Given the description of an element on the screen output the (x, y) to click on. 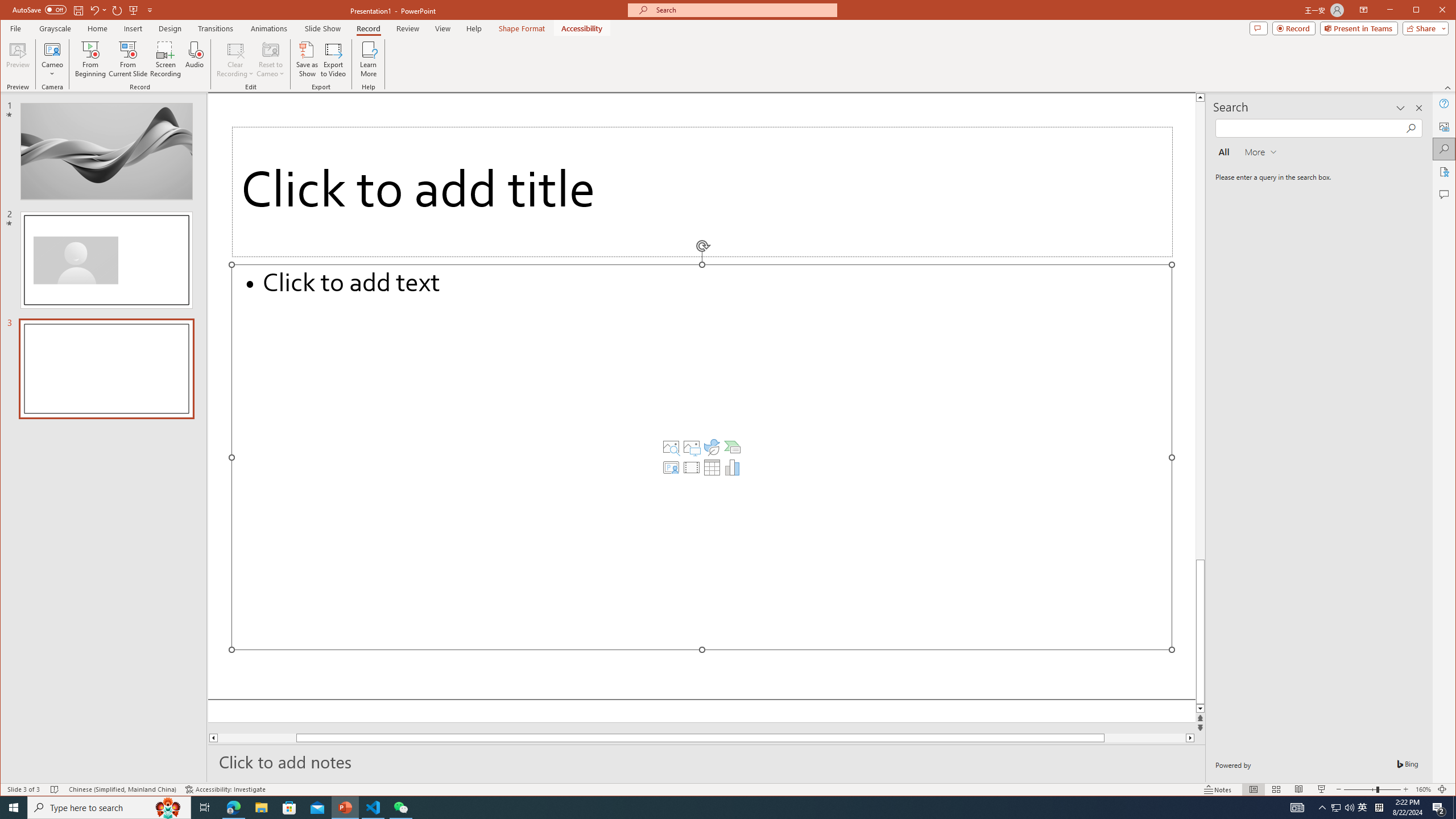
Insert Cameo (670, 467)
Clear Recording (234, 59)
Grayscale (55, 28)
